Given the description of an element on the screen output the (x, y) to click on. 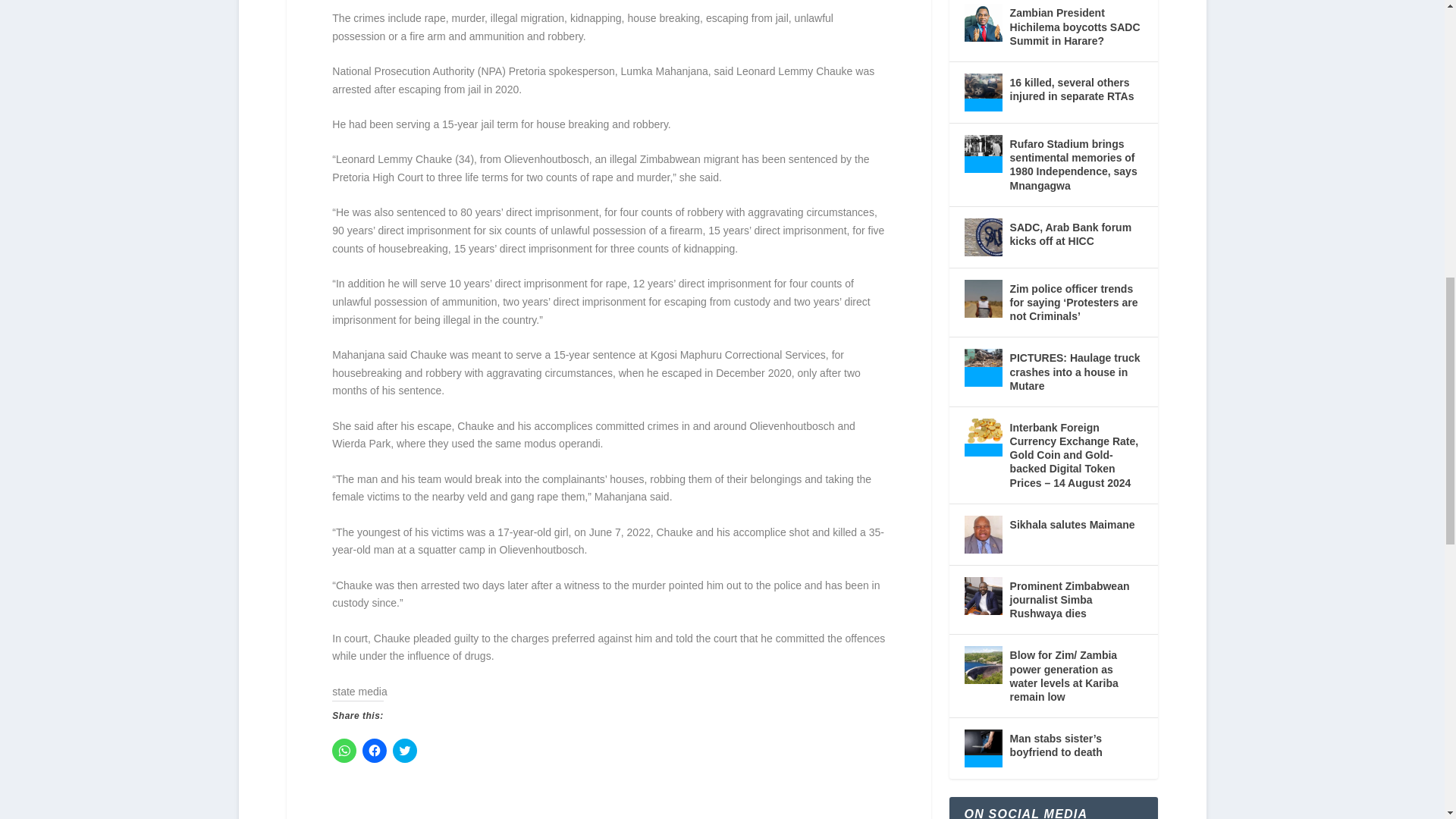
Click to share on Facebook (374, 750)
Click to share on Twitter (404, 750)
Click to share on WhatsApp (343, 750)
